Given the description of an element on the screen output the (x, y) to click on. 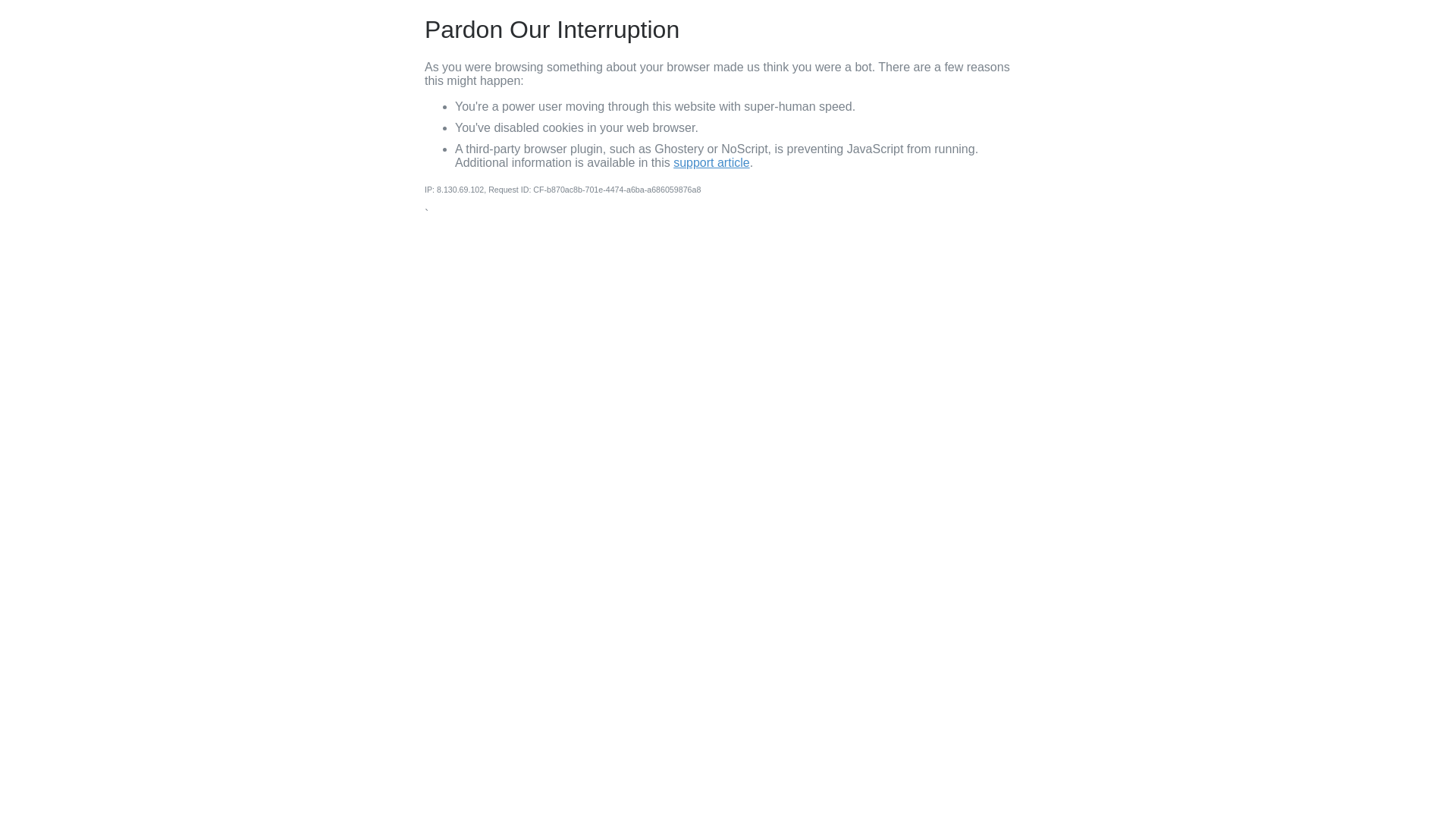
support article Element type: text (711, 162)
